Given the description of an element on the screen output the (x, y) to click on. 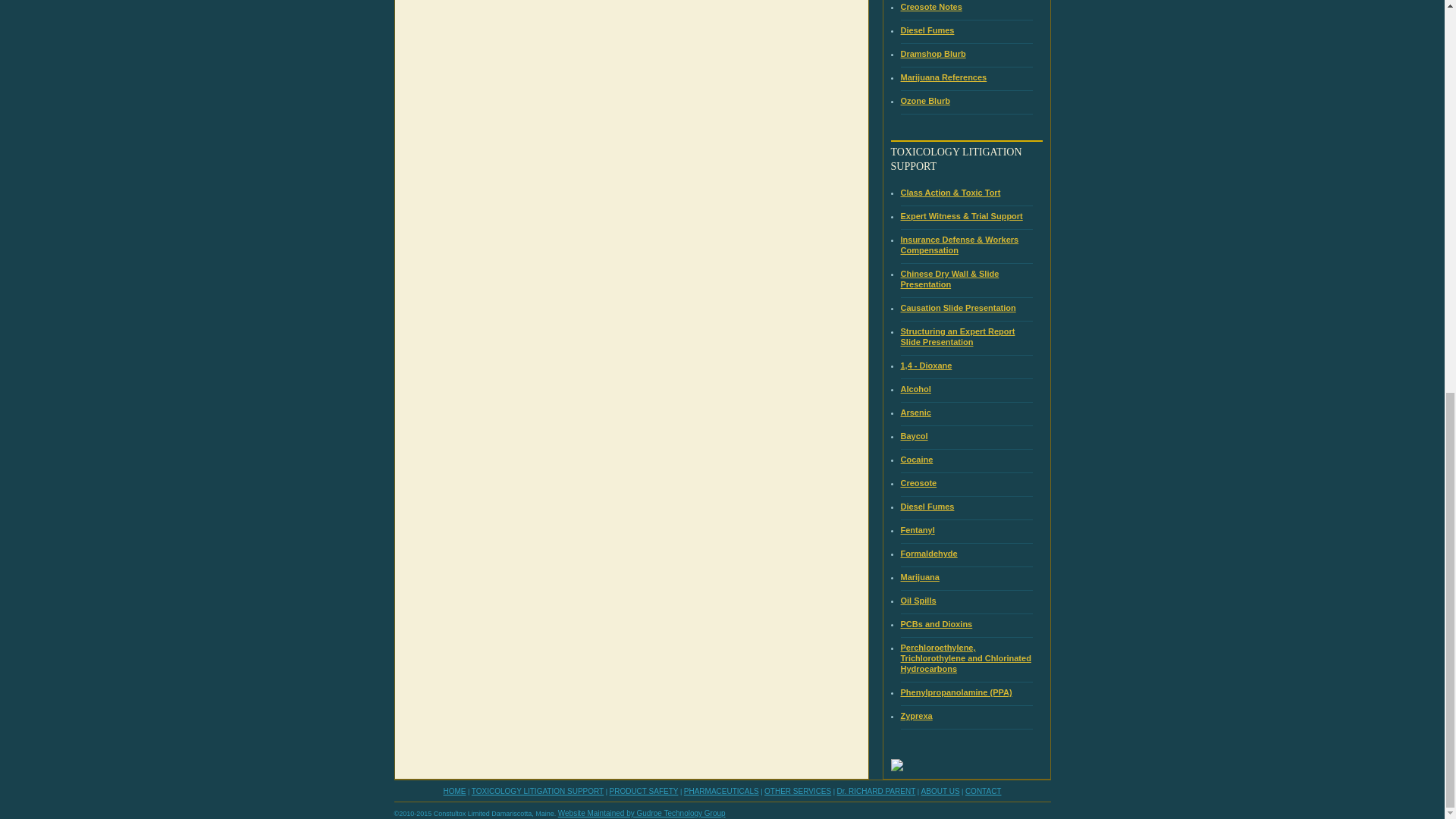
Marijuana References (944, 76)
Dramshop Blurb (933, 53)
Diesel Fumes (928, 30)
Creosote Notes (931, 6)
Ozone Blurb (925, 100)
